Given the description of an element on the screen output the (x, y) to click on. 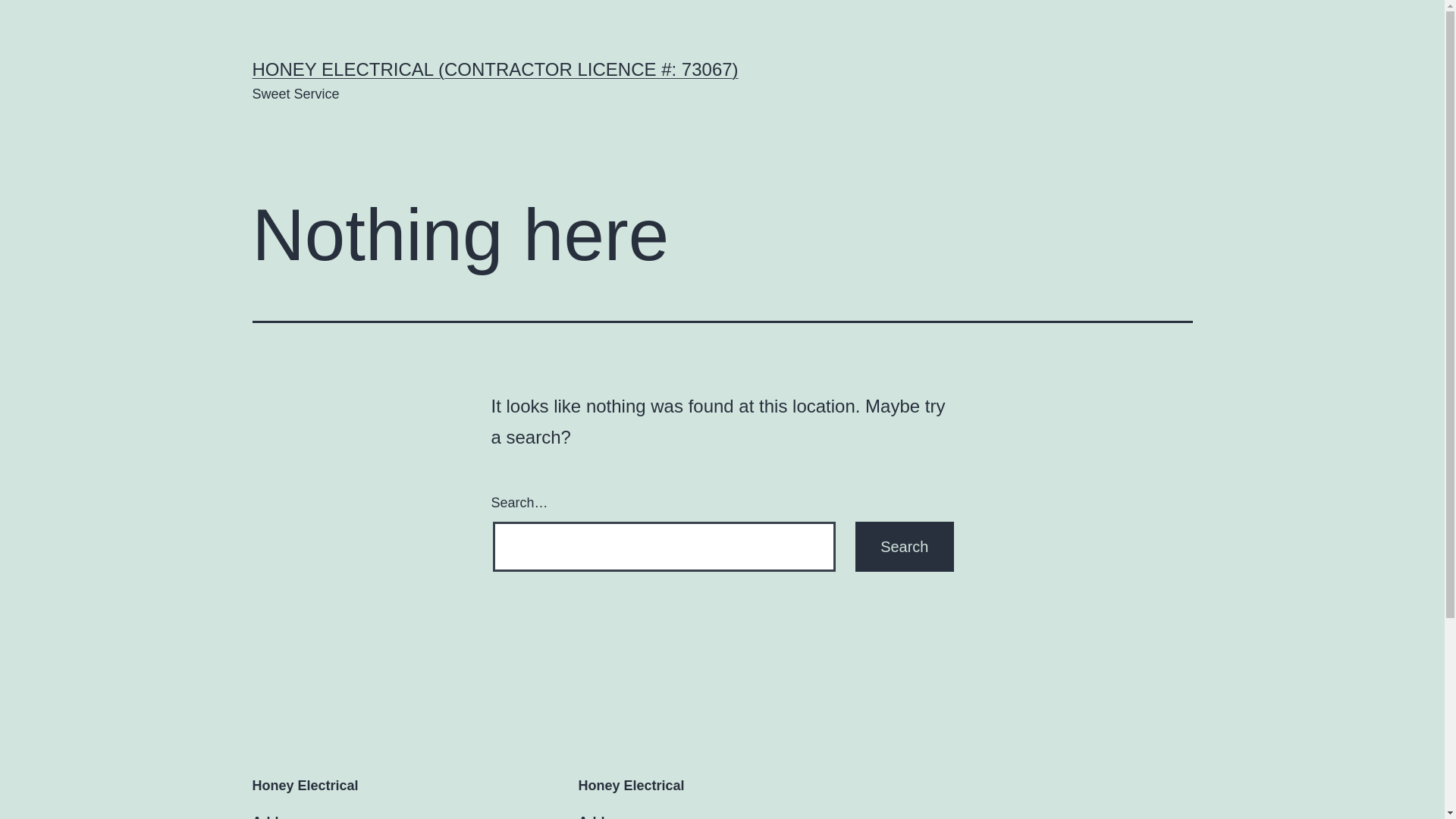
HONEY ELECTRICAL (CONTRACTOR LICENCE #: 73067) Element type: text (494, 69)
Search Element type: text (904, 546)
